Given the description of an element on the screen output the (x, y) to click on. 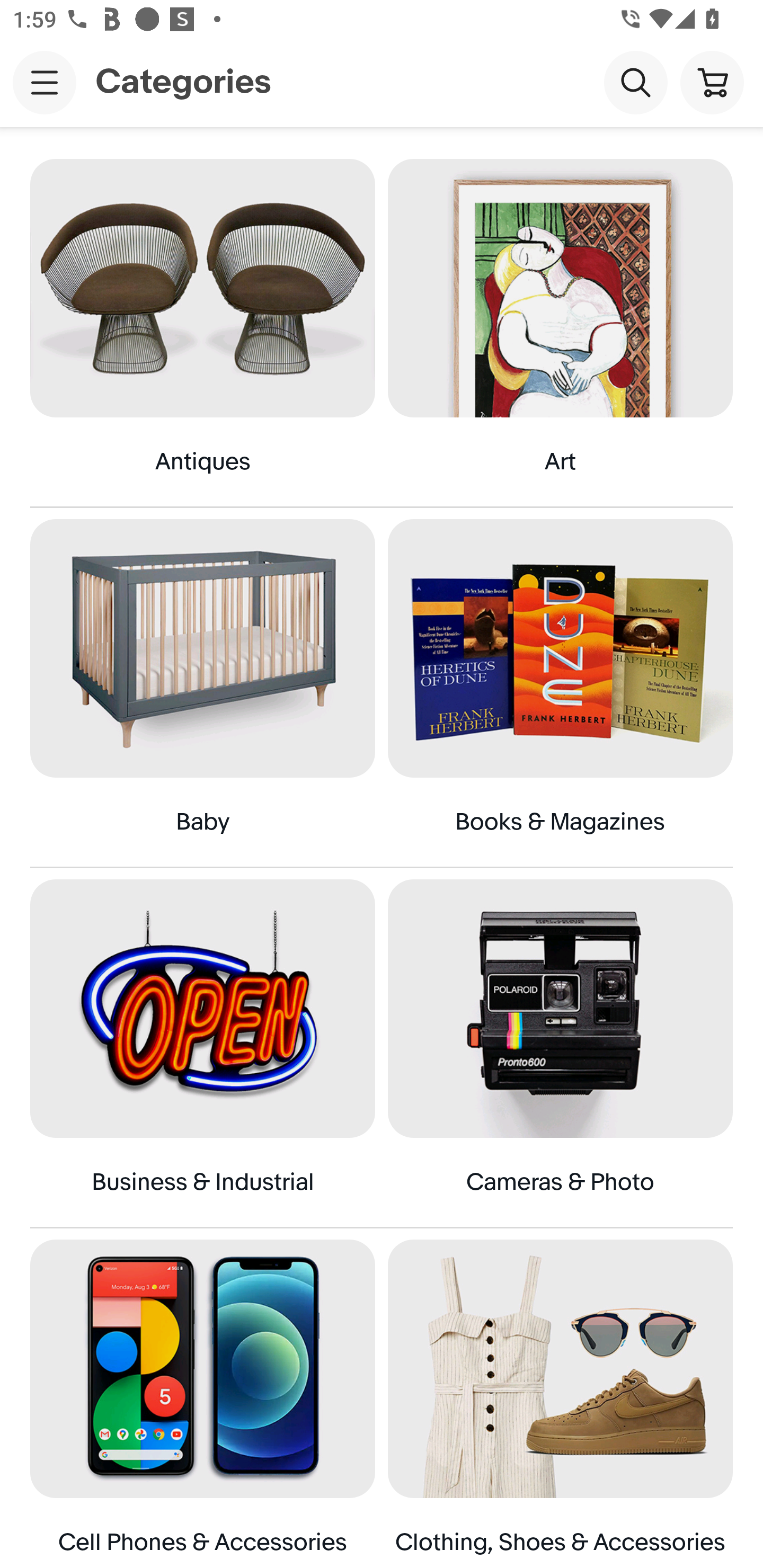
Main navigation, open (44, 82)
Search (635, 81)
Cart button shopping cart (711, 81)
Antiques (202, 332)
Art (559, 332)
Baby (202, 693)
Books & Magazines (559, 693)
Business & Industrial (202, 1052)
Cameras & Photo (559, 1052)
Cell Phones & Accessories (202, 1404)
Clothing, Shoes & Accessories (559, 1404)
